Given the description of an element on the screen output the (x, y) to click on. 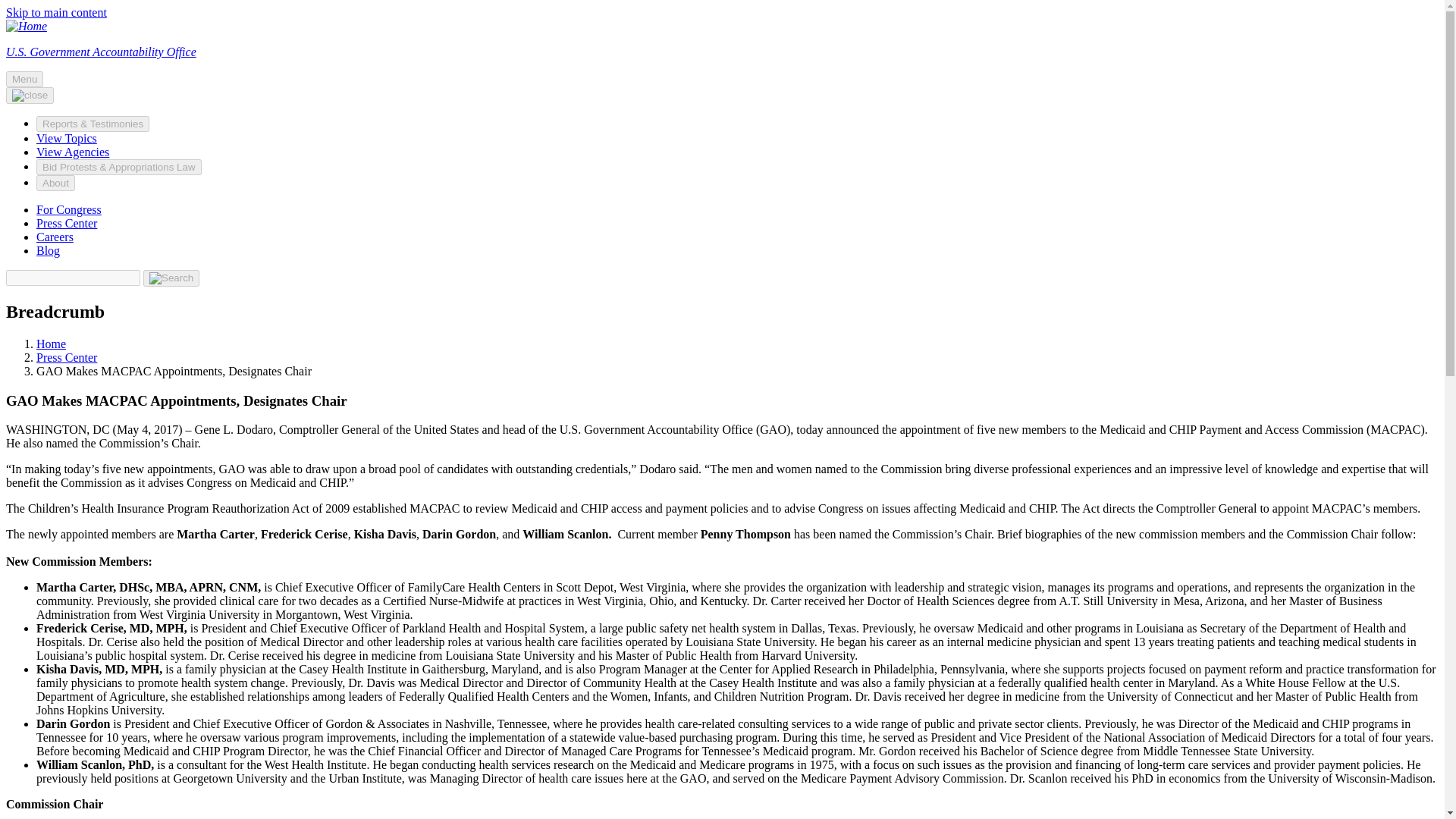
About (55, 182)
Home (50, 343)
Careers (55, 236)
Menu (24, 78)
For Congress (68, 209)
Blog (47, 250)
View Topics (66, 137)
Skip to main content (55, 11)
Press Center (66, 223)
Press Center (66, 357)
View Agencies (72, 151)
